Given the description of an element on the screen output the (x, y) to click on. 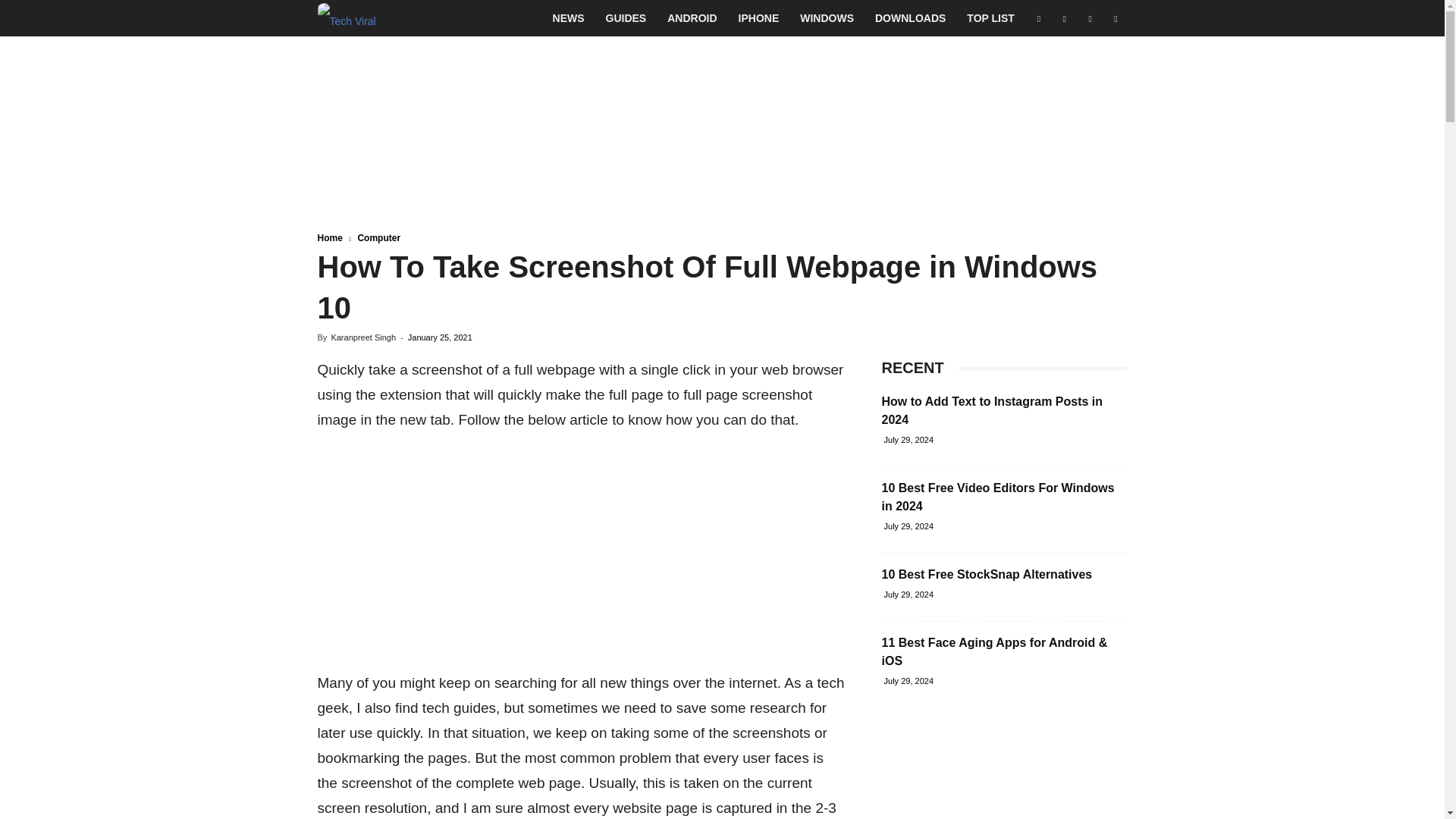
NEWS (568, 18)
Tech Viral (346, 18)
WINDOWS (826, 18)
ANDROID (691, 18)
Home (329, 237)
IPHONE (759, 18)
DOWNLOADS (910, 18)
Twitter (1114, 18)
Pinterest (1090, 18)
GUIDES (626, 18)
Instagram (1063, 18)
TechViral (346, 18)
Facebook (1038, 18)
TOP LIST (990, 18)
Karanpreet Singh (363, 337)
